Given the description of an element on the screen output the (x, y) to click on. 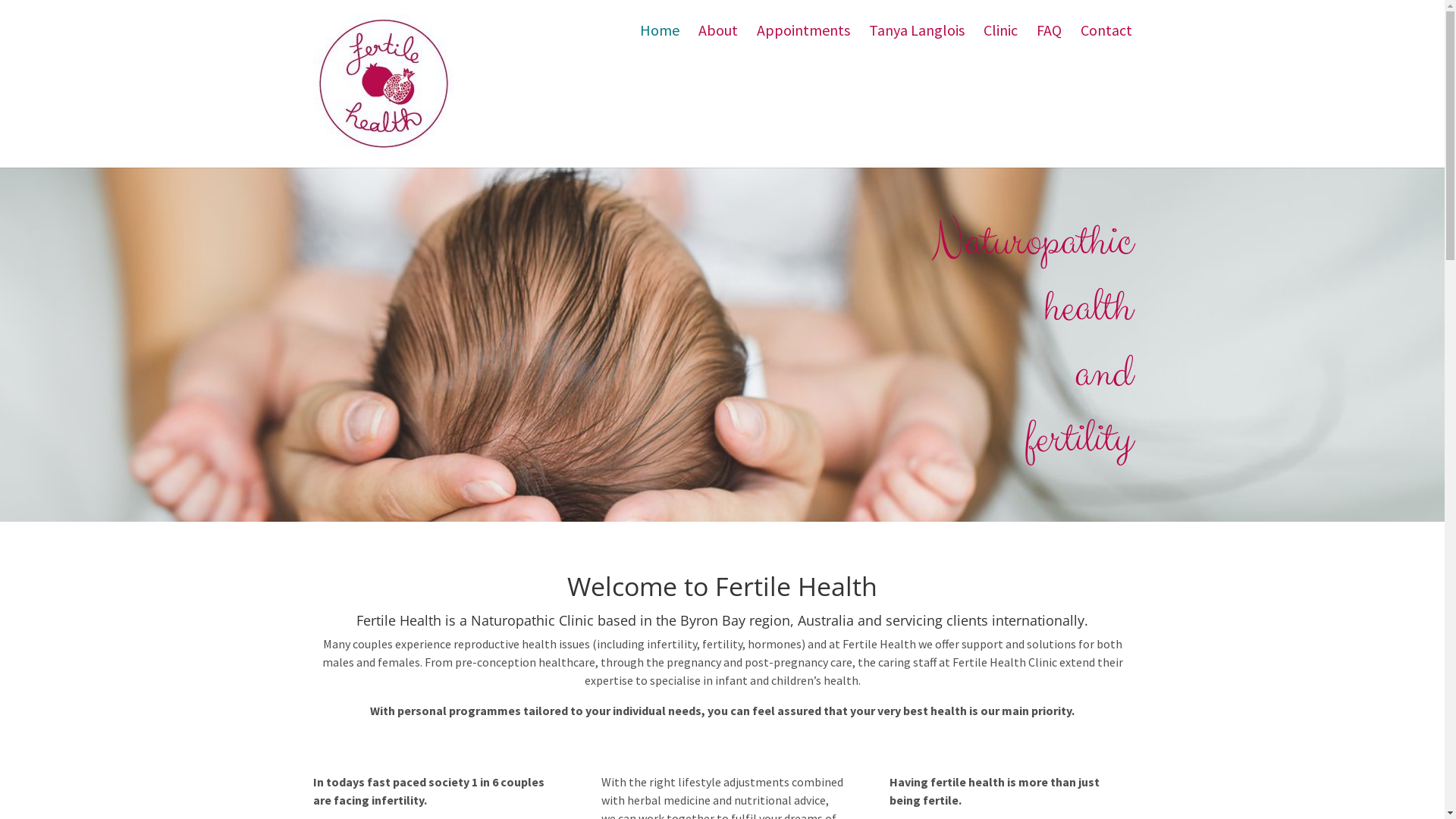
Tanya Langlois Element type: text (916, 40)
Home Element type: text (659, 40)
FAQ Element type: text (1047, 40)
Appointments Element type: text (803, 40)
Clinic Element type: text (999, 40)
About Element type: text (717, 40)
Contact Element type: text (1105, 40)
